Given the description of an element on the screen output the (x, y) to click on. 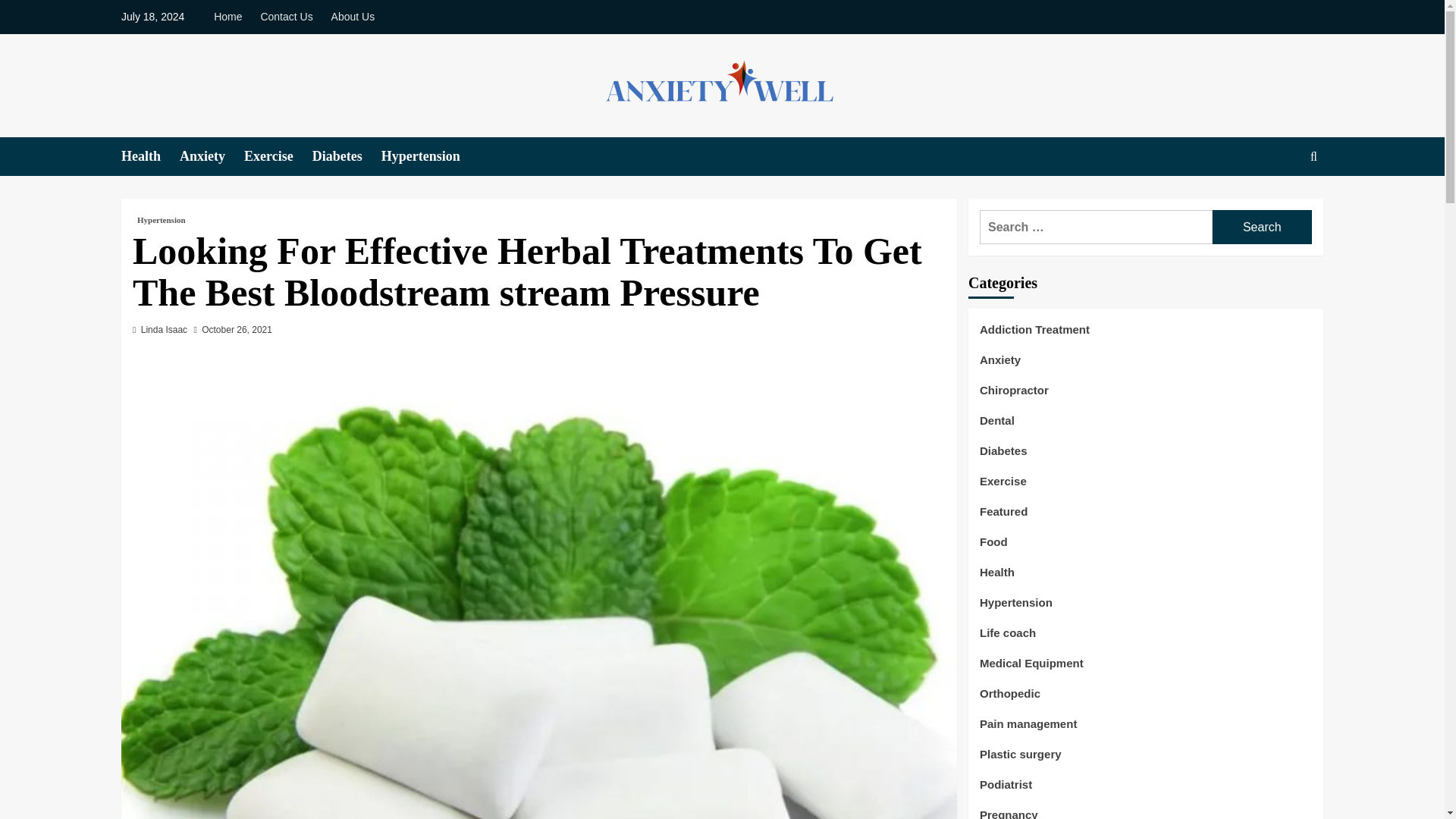
Dental (996, 426)
Exercise (1002, 487)
Anxiety (999, 365)
Health (996, 577)
Search (1278, 203)
Exercise (278, 156)
Food (993, 547)
Linda Isaac (164, 329)
Chiropractor (1013, 396)
Health (149, 156)
Hypertension (1015, 608)
Diabetes (347, 156)
Hypertension (430, 156)
Featured (1003, 517)
Search (1261, 226)
